Given the description of an element on the screen output the (x, y) to click on. 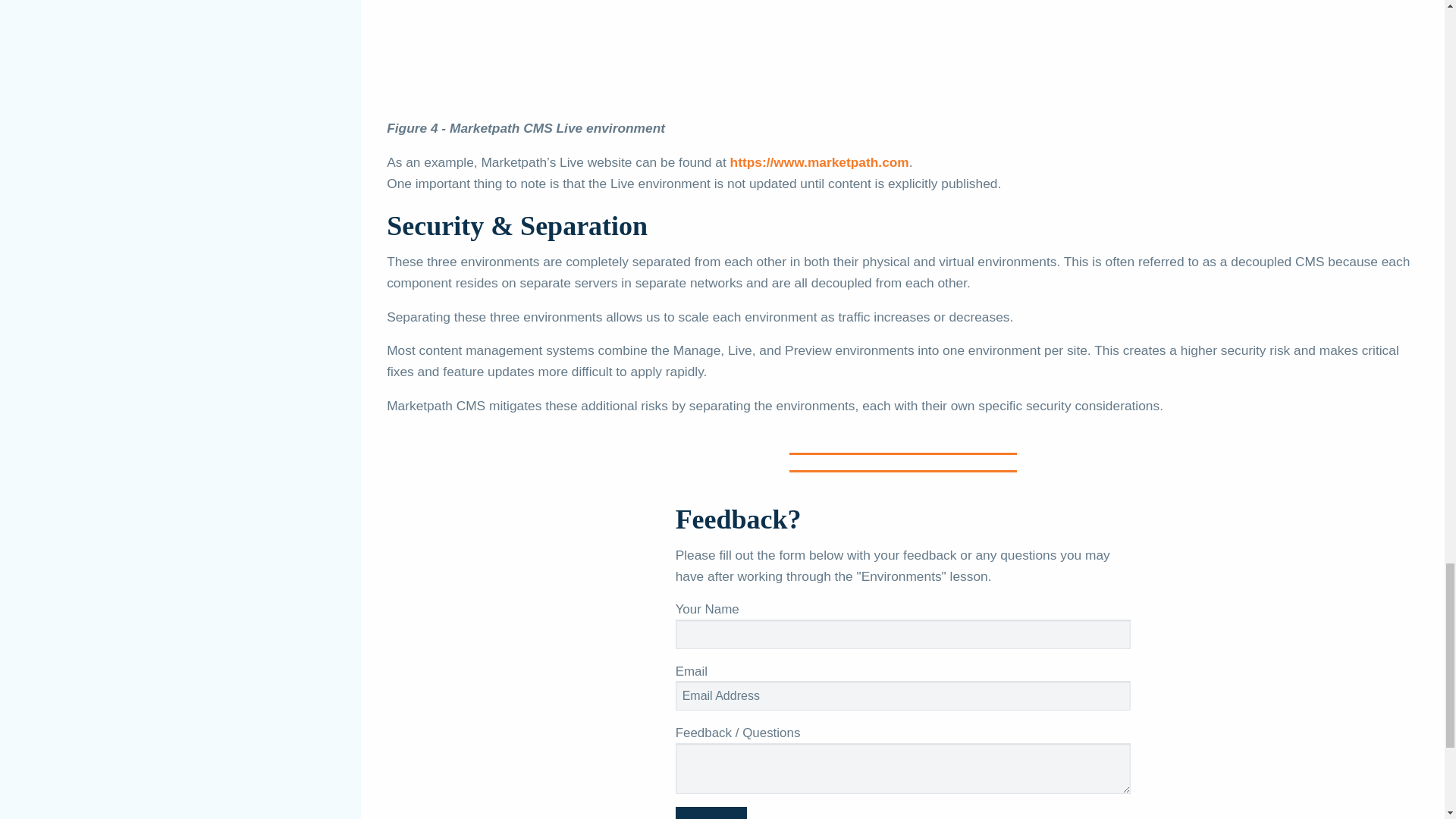
SUBMIT (711, 813)
Marketpath CMS Live website (819, 161)
live-site-screenshot (689, 58)
